Given the description of an element on the screen output the (x, y) to click on. 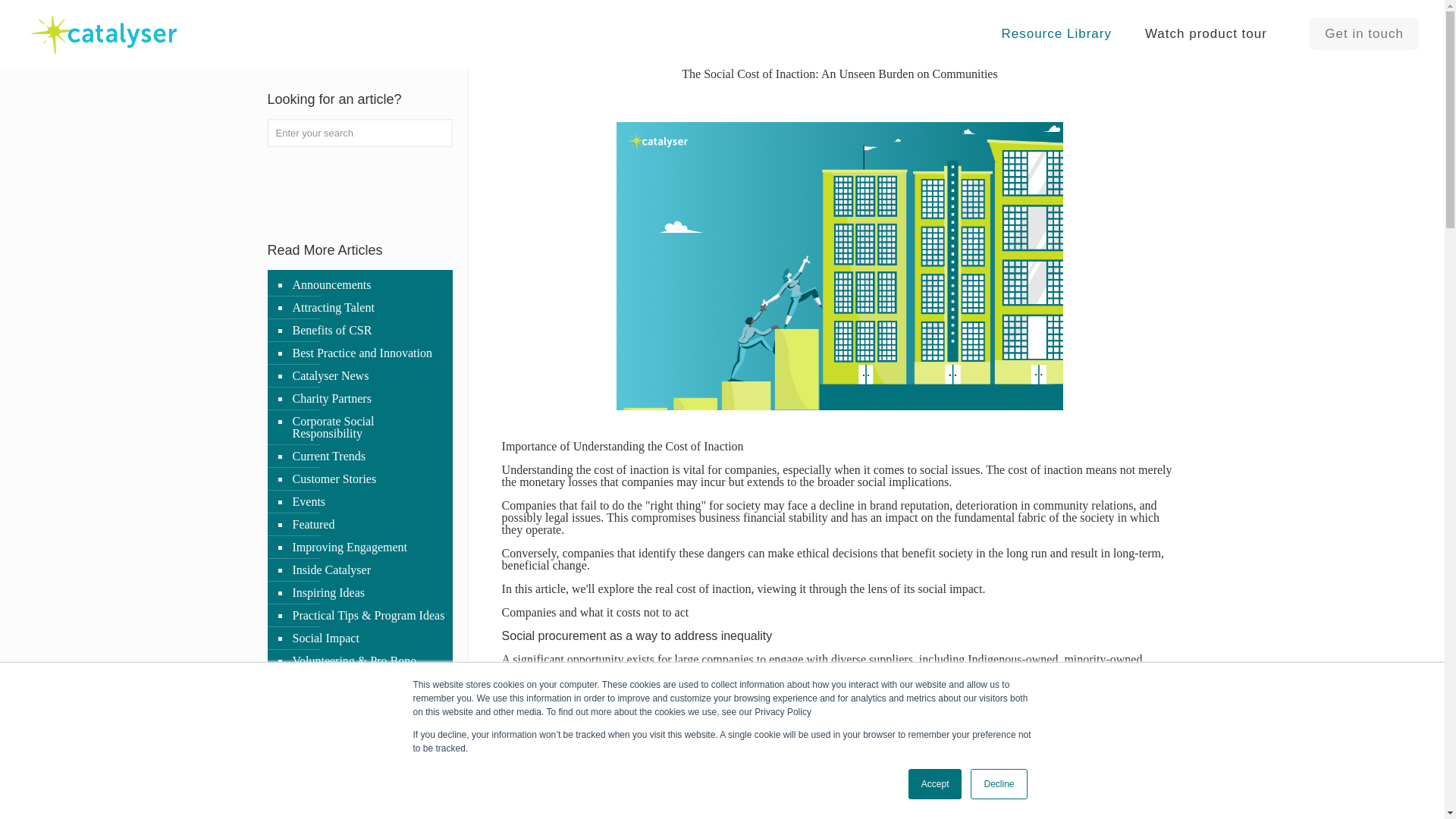
Featured (366, 524)
Inside Catalyser (366, 569)
Announcements (366, 284)
Why Giving Matters to Employees (366, 712)
Resource Library (1055, 34)
Improving Engagement (366, 547)
Hackett Group (610, 707)
Corporate Social Responsibility (366, 427)
Current Trends (366, 456)
Accept (935, 784)
Catalyser News (366, 375)
Social Impact (366, 638)
Webinars (366, 683)
Charity Partners (366, 398)
Decline (998, 784)
